Given the description of an element on the screen output the (x, y) to click on. 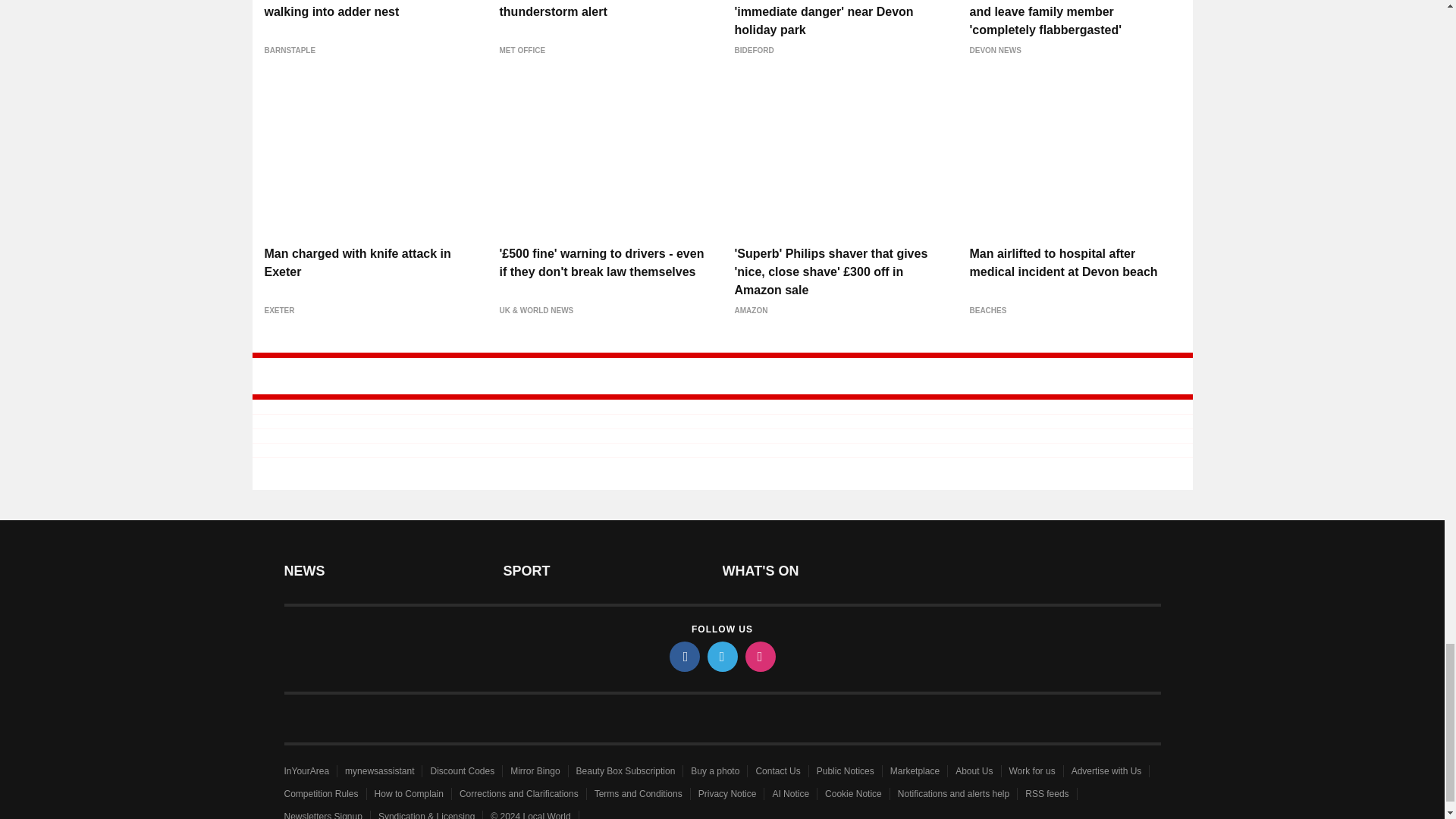
instagram (759, 656)
facebook (683, 656)
twitter (721, 656)
